Given the description of an element on the screen output the (x, y) to click on. 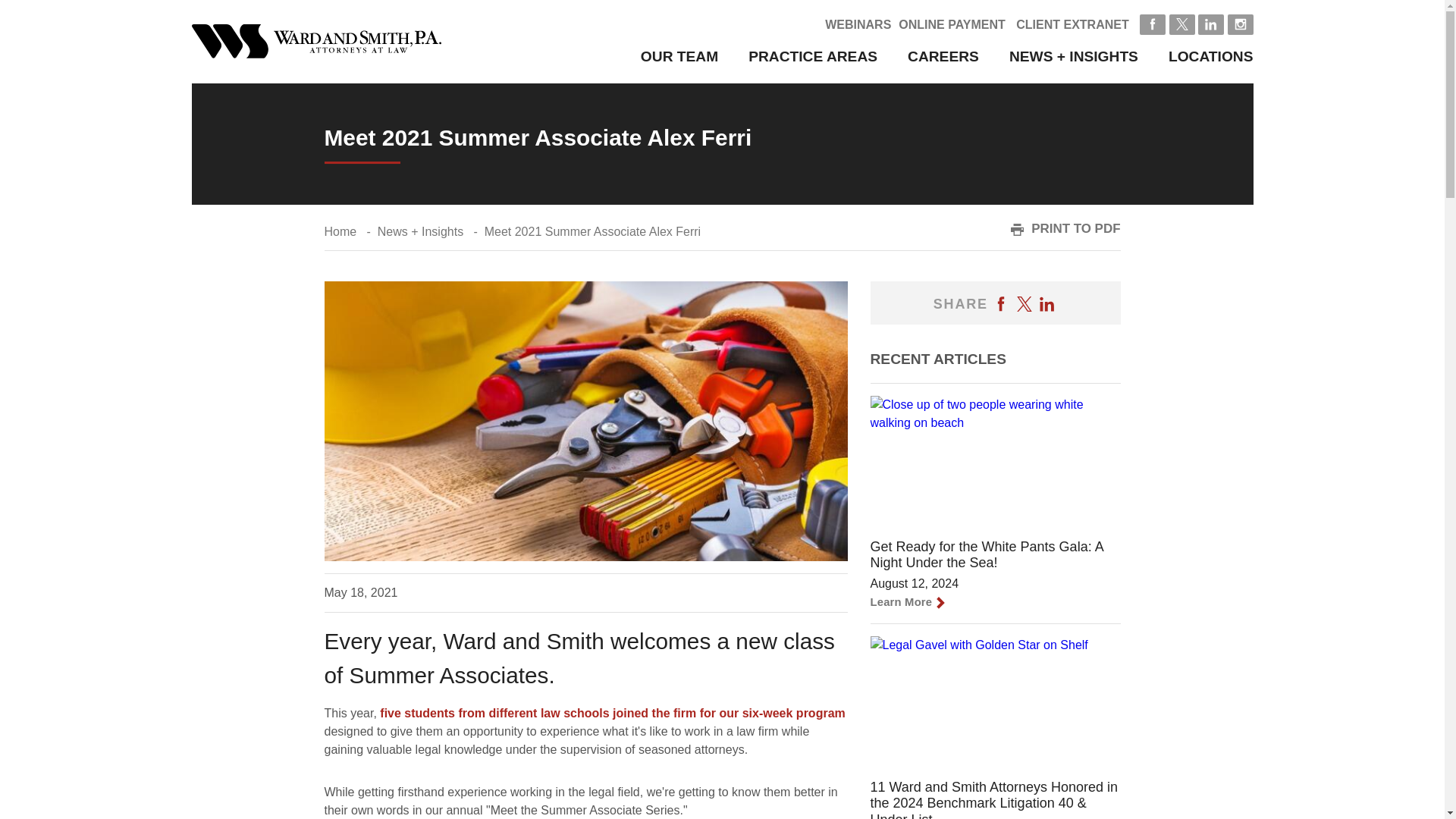
Share on Facebook (1000, 304)
CAREERS (942, 56)
WEBINARS (858, 24)
CLIENT EXTRANET (1072, 24)
Home (340, 231)
Share on Twitter (1024, 304)
PRACTICE AREAS (812, 56)
